Given the description of an element on the screen output the (x, y) to click on. 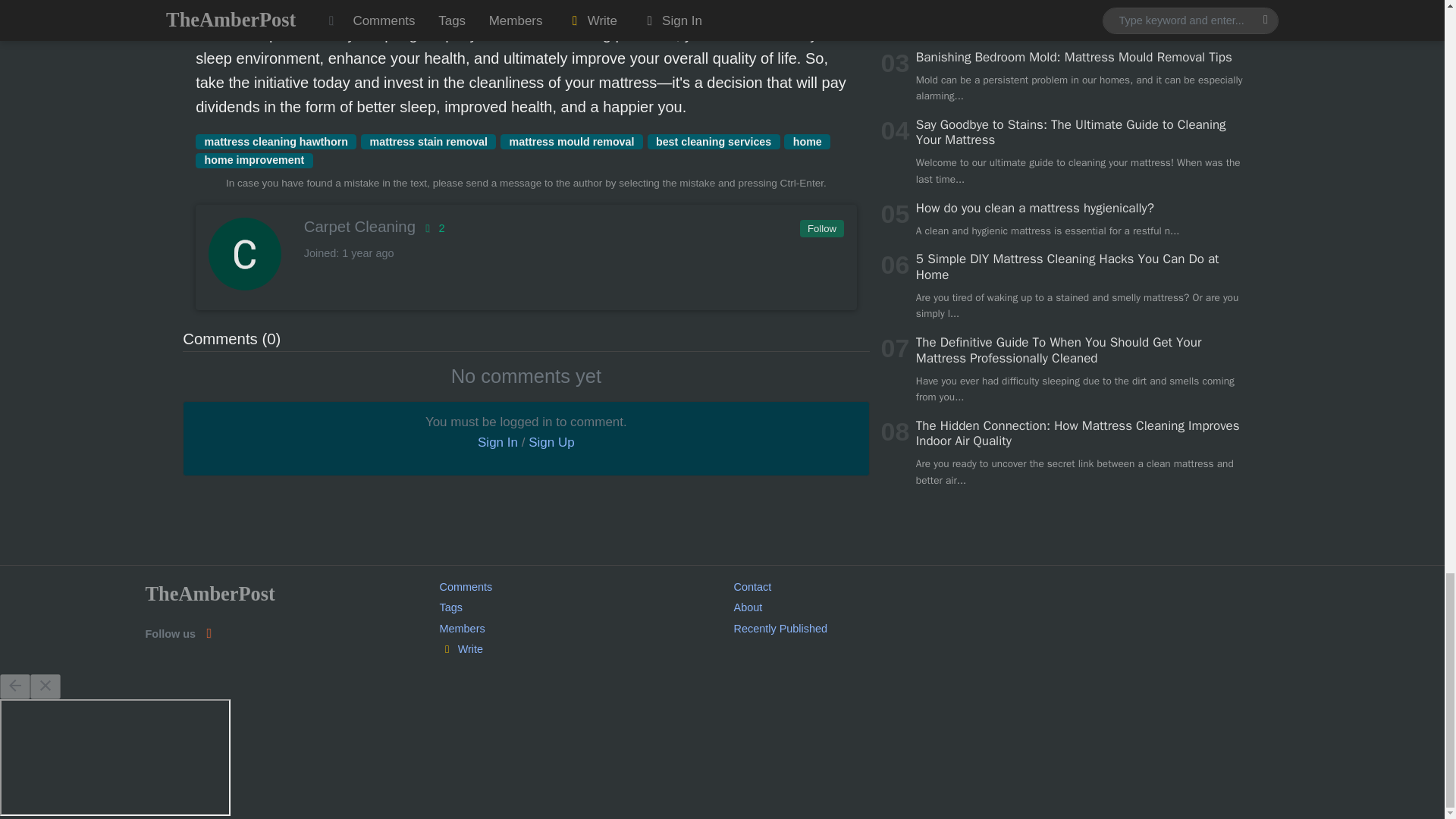
mattress cleaning hawthorn (275, 141)
home (806, 141)
mattress cleaning (441, 9)
best cleaning services (713, 141)
best cleaning services (713, 141)
home improvement (254, 160)
home improvement (254, 160)
home (806, 141)
mattress cleaning hawthorn (275, 141)
mattress stain removal (428, 141)
mattress stain removal (428, 141)
Sign In (497, 441)
mattress mould removal (571, 141)
Follow (821, 229)
mattress mould removal (571, 141)
